Given the description of an element on the screen output the (x, y) to click on. 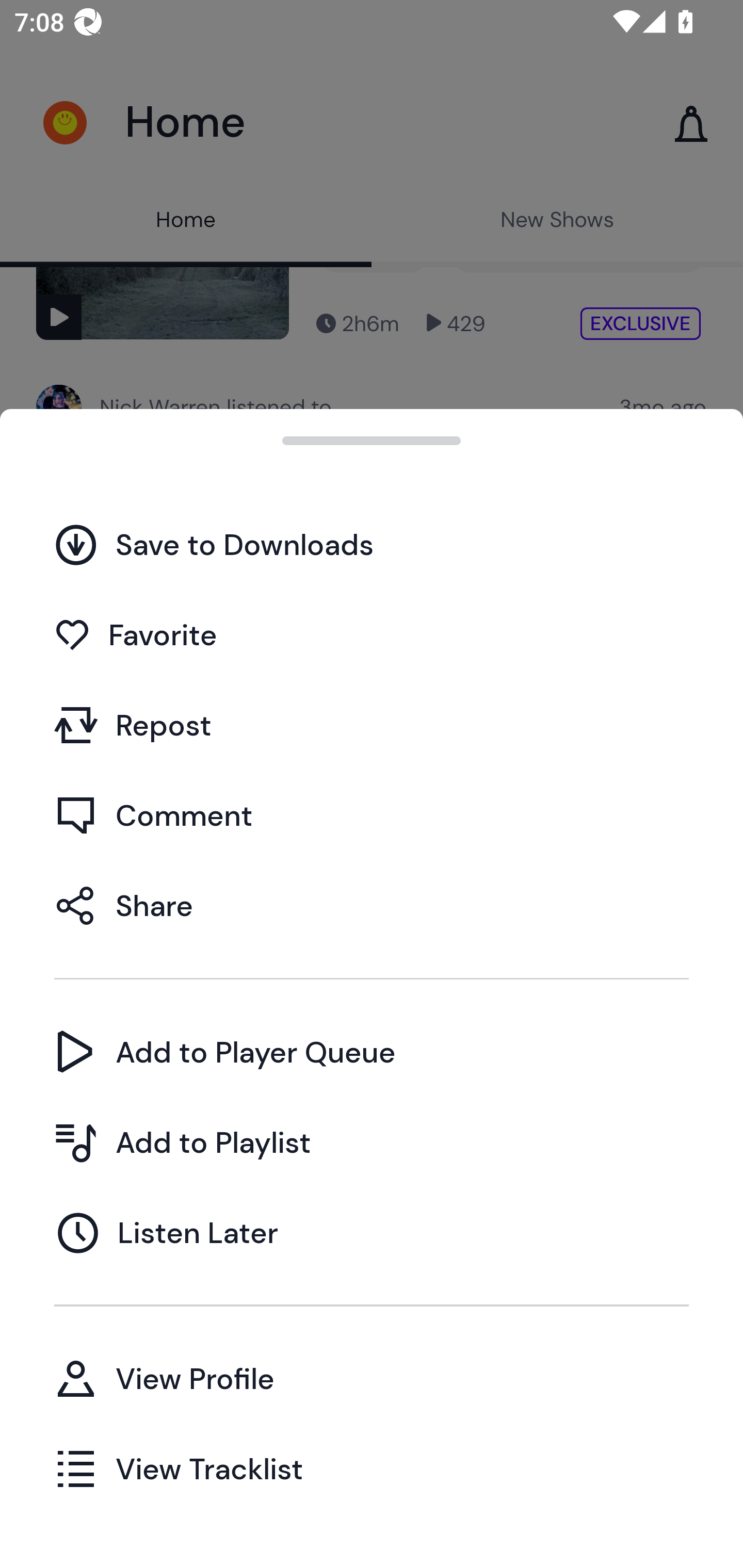
Save to Downloads (371, 543)
Favorite (371, 634)
Repost (371, 724)
Comment (371, 814)
Share (371, 905)
Add to Player Queue (371, 1051)
Add to Playlist (371, 1141)
Listen Later (371, 1231)
View Profile (371, 1377)
View Tracklist (371, 1468)
